Given the description of an element on the screen output the (x, y) to click on. 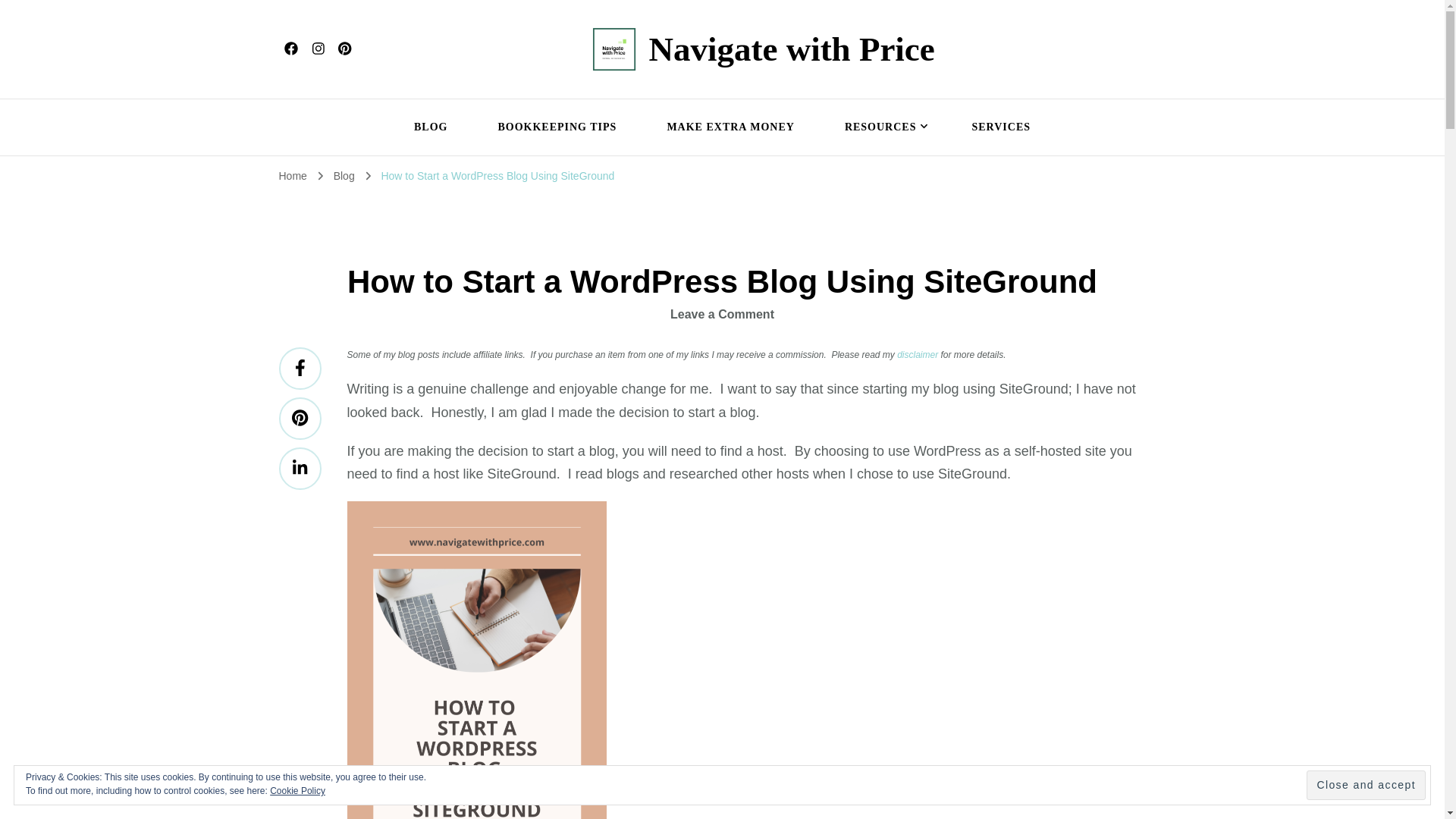
RESOURCES (883, 127)
BOOKKEEPING TIPS (556, 127)
disclaimer (916, 354)
SERVICES (1000, 127)
Make Money (730, 127)
Close and accept (1365, 785)
Navigate with Price (790, 48)
MAKE EXTRA MONEY (730, 127)
Home (293, 175)
Blog (345, 175)
Blog (430, 127)
Digital and Printable Template Shop (883, 127)
BLOG (430, 127)
Services (1000, 127)
